Given the description of an element on the screen output the (x, y) to click on. 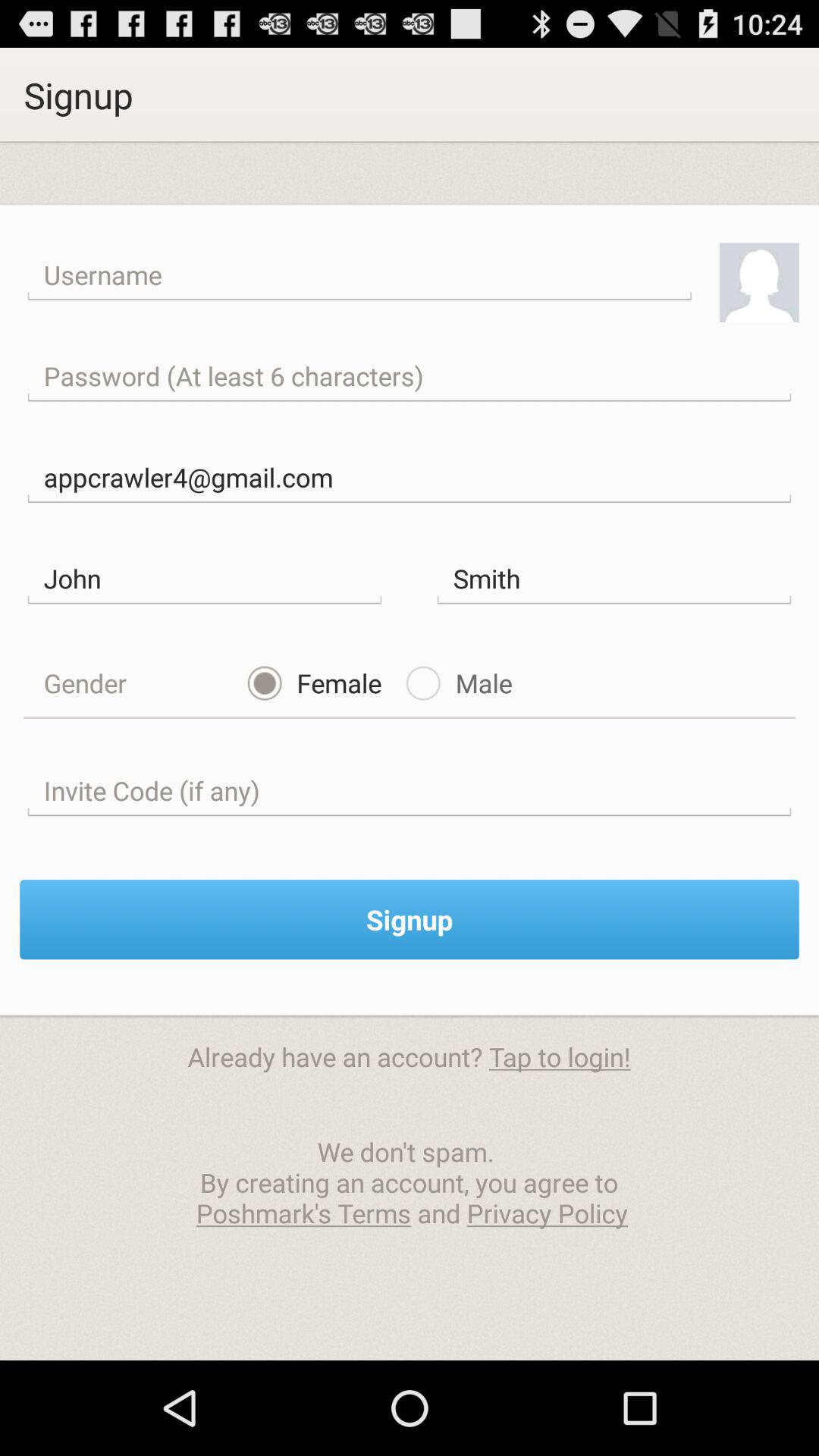
create a password (409, 376)
